Given the description of an element on the screen output the (x, y) to click on. 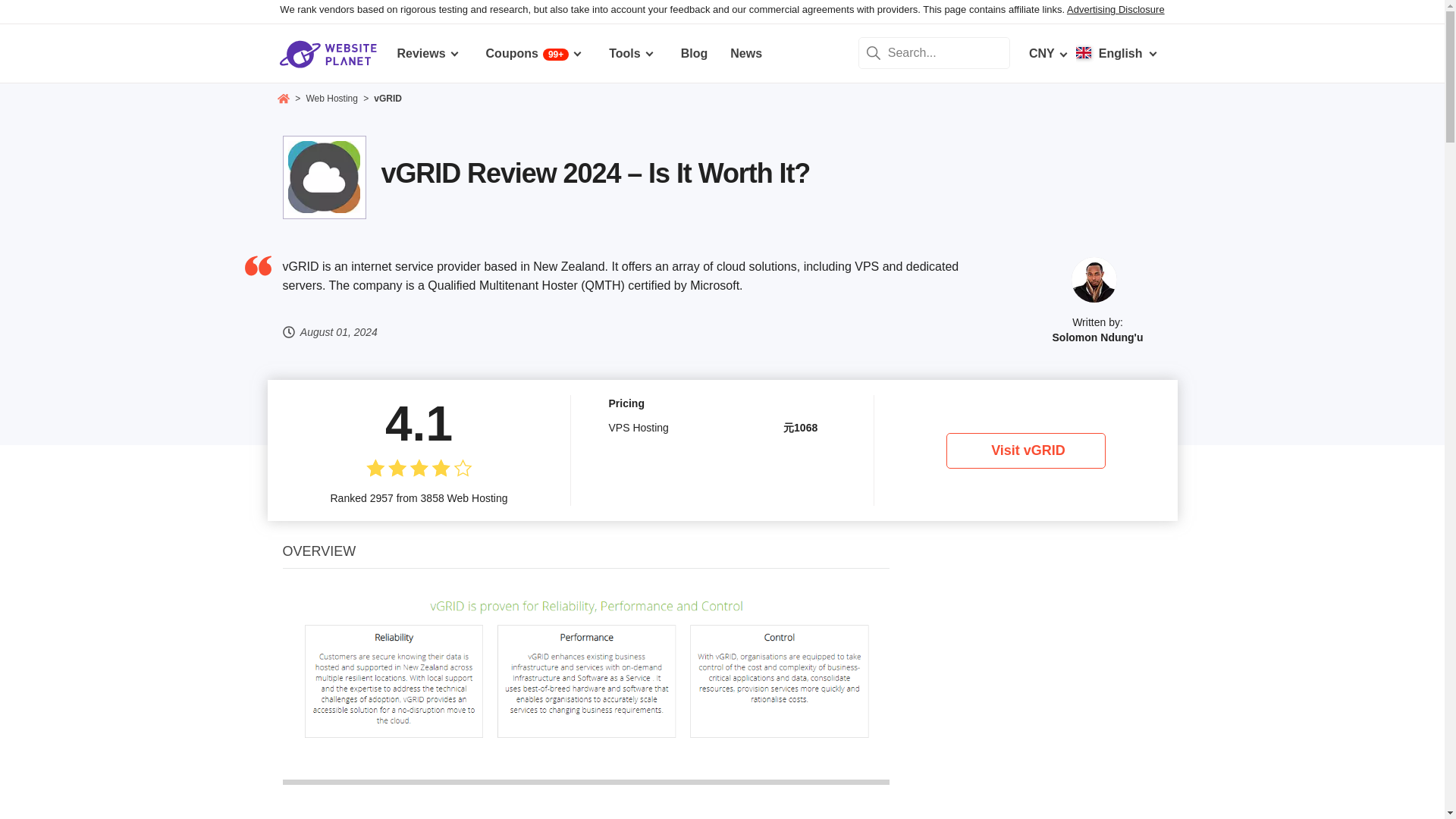
Search (873, 52)
Search (873, 52)
Advertising Disclosure (1115, 9)
